Given the description of an element on the screen output the (x, y) to click on. 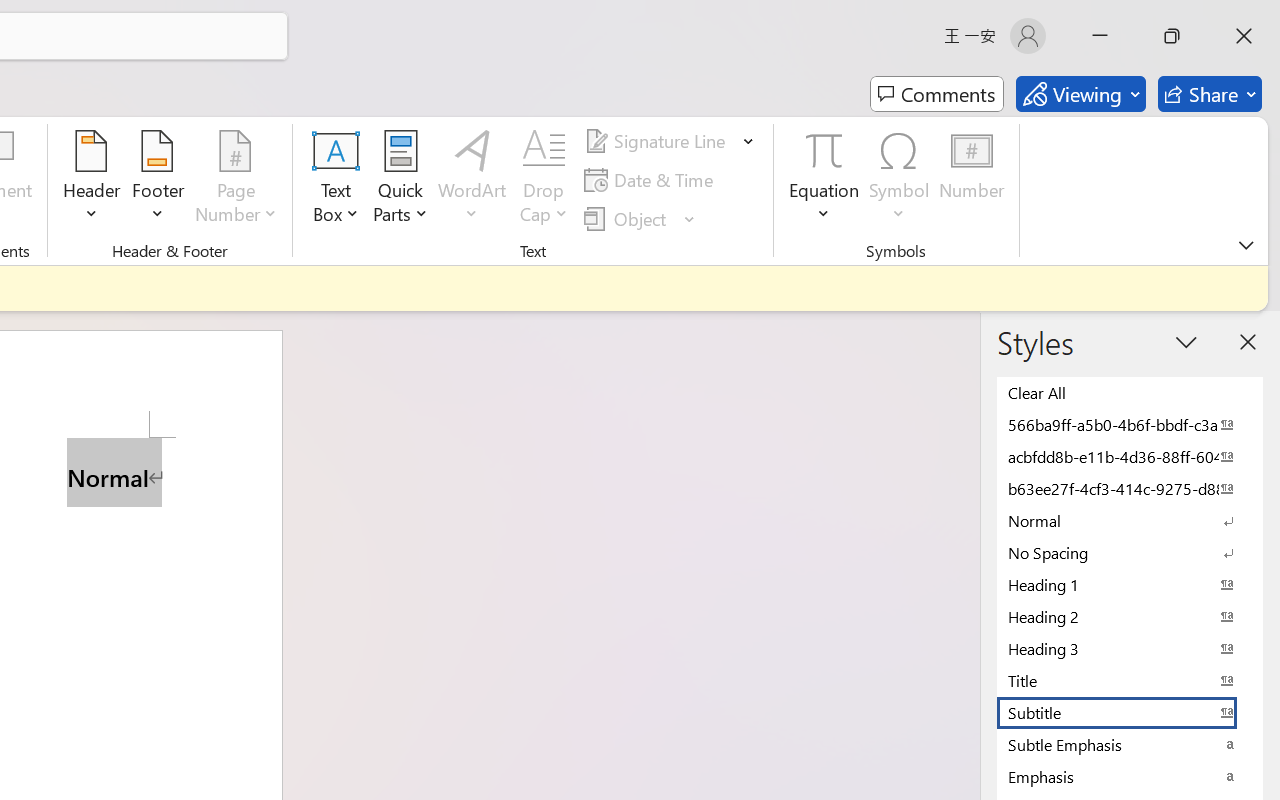
acbfdd8b-e11b-4d36-88ff-6049b138f862 (1130, 456)
Emphasis (1130, 776)
Heading 2 (1130, 616)
Drop Cap (543, 179)
Title (1130, 680)
Signature Line (669, 141)
Task Pane Options (1186, 342)
Object... (640, 218)
